Given the description of an element on the screen output the (x, y) to click on. 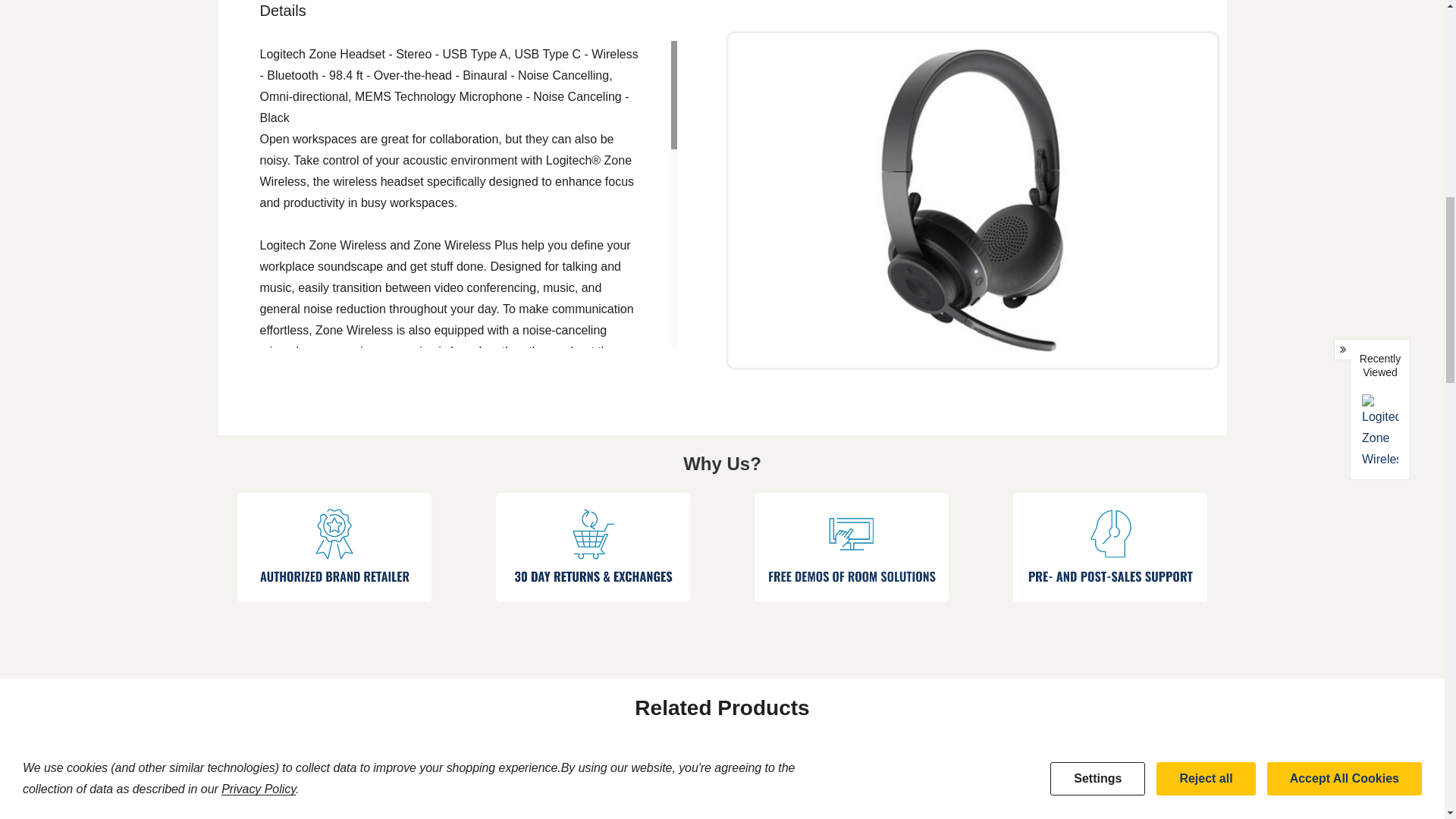
Logitech Zone Wired UC - Headset (313, 800)
Logitech  Zone Wireless Headset (519, 800)
Logitech Zone Wired Earbuds UC (1133, 800)
Logitech Zone Wireless - Teams (722, 800)
Logitech Zone Wireless Plus - Teams (928, 800)
